Given the description of an element on the screen output the (x, y) to click on. 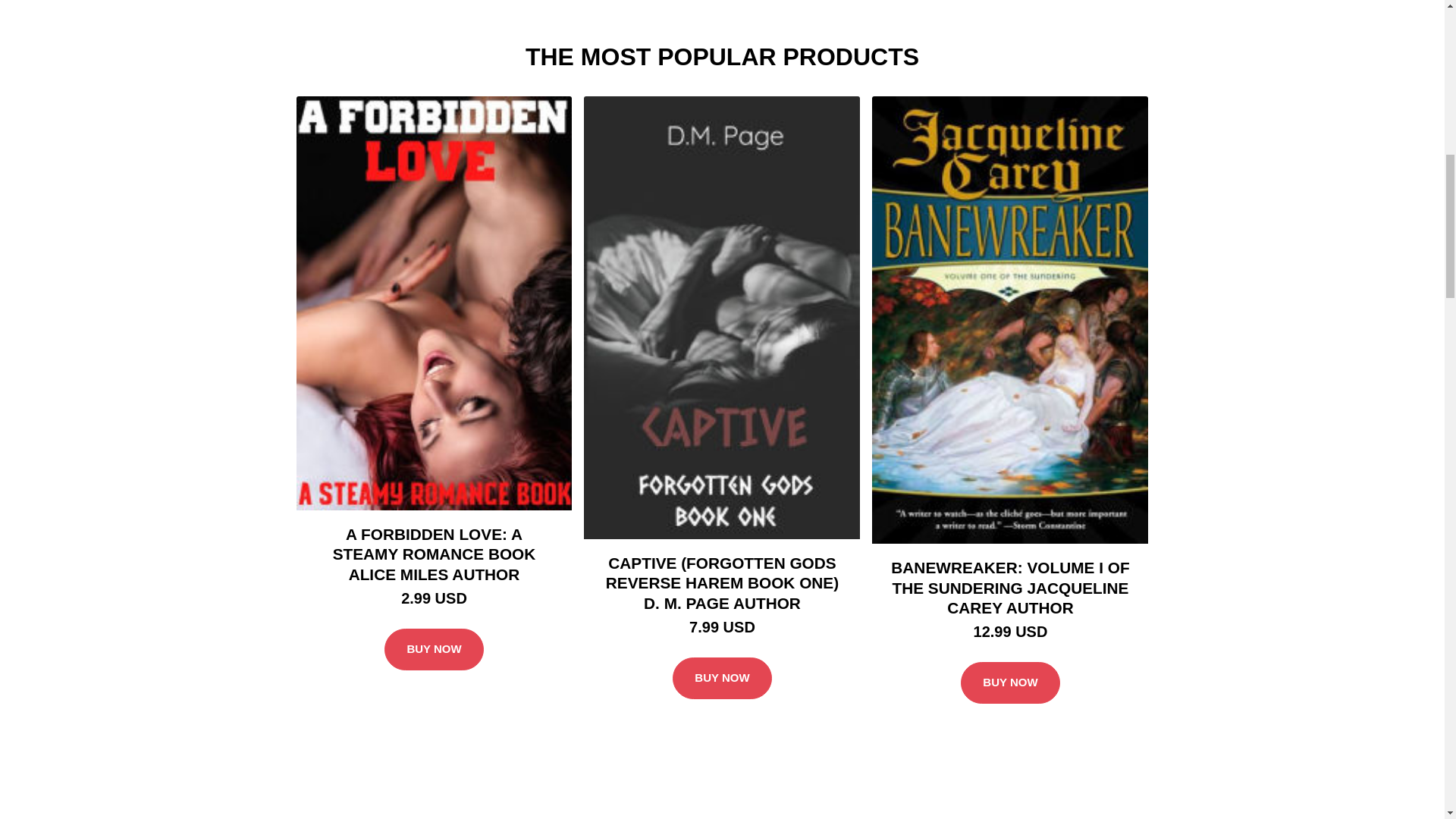
BUY NOW (433, 207)
BUY NOW (1009, 207)
BUY NOW (721, 207)
BUY NOW (1009, 731)
A FORBIDDEN LOVE: A STEAMY ROMANCE BOOK ALICE MILES AUTHOR (434, 111)
BUY NOW (721, 731)
BUY NOW (433, 731)
